Given the description of an element on the screen output the (x, y) to click on. 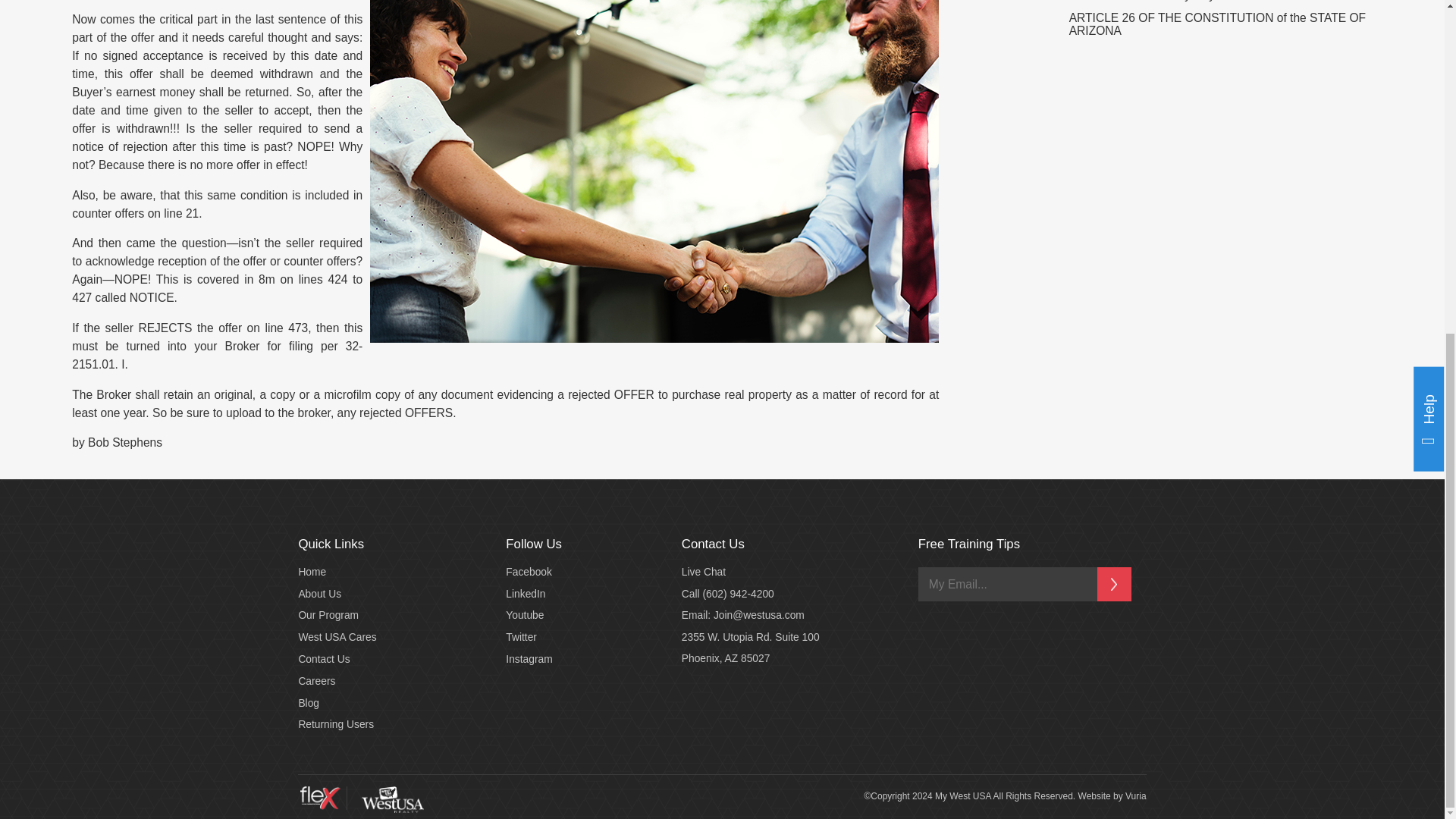
Contact Us (323, 659)
Careers (316, 681)
ARTICLE 26 OF THE CONSTITUTION of the STATE OF ARIZONA (1216, 23)
Our Program (328, 614)
About Us (319, 593)
West USA Cares (336, 636)
Lead Generation Every Day (1141, 0)
Home (312, 572)
